Given the description of an element on the screen output the (x, y) to click on. 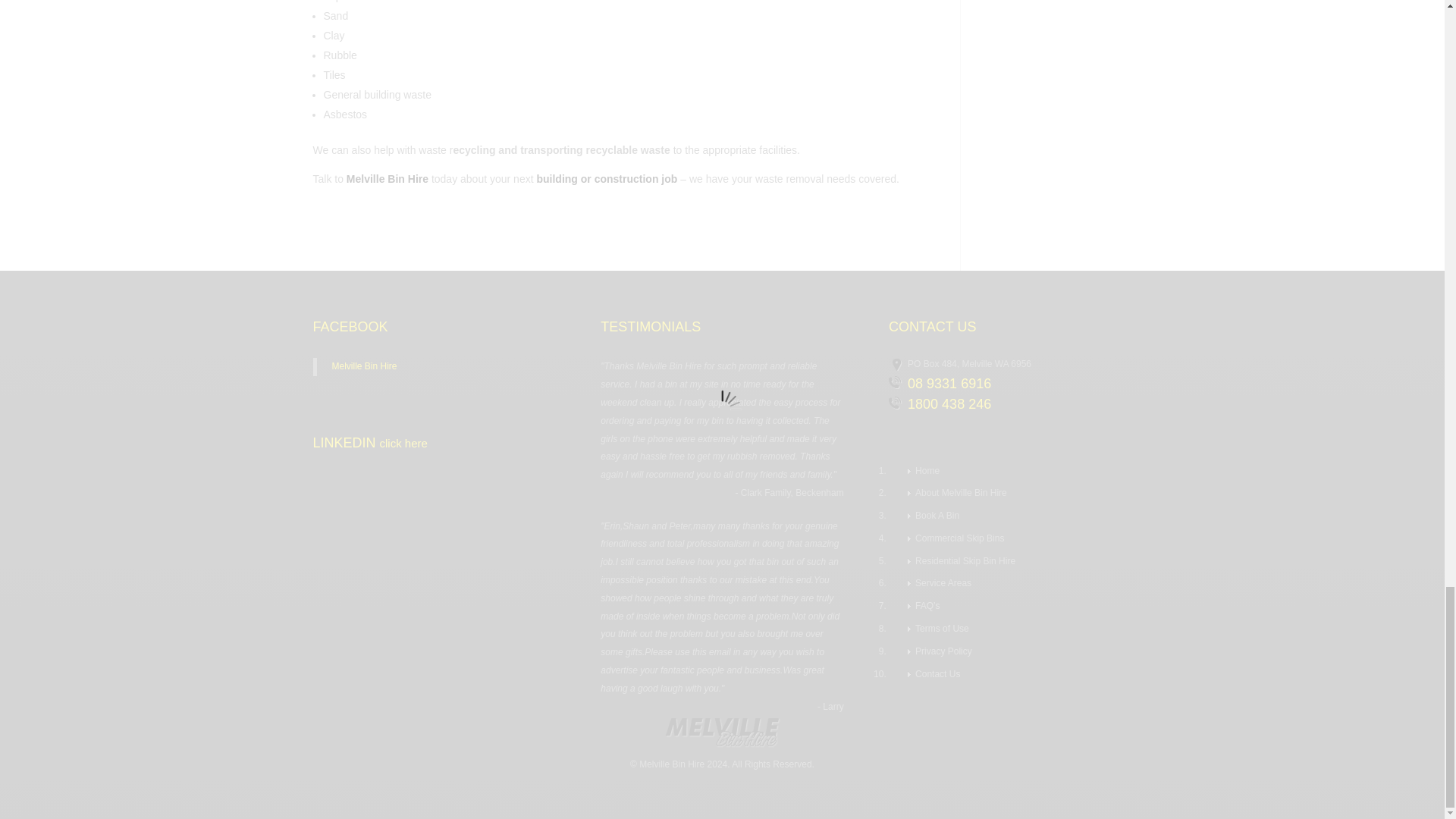
Melville Bin Hire (364, 366)
Melville Bin Hire (387, 178)
building or construction job (606, 178)
